Given the description of an element on the screen output the (x, y) to click on. 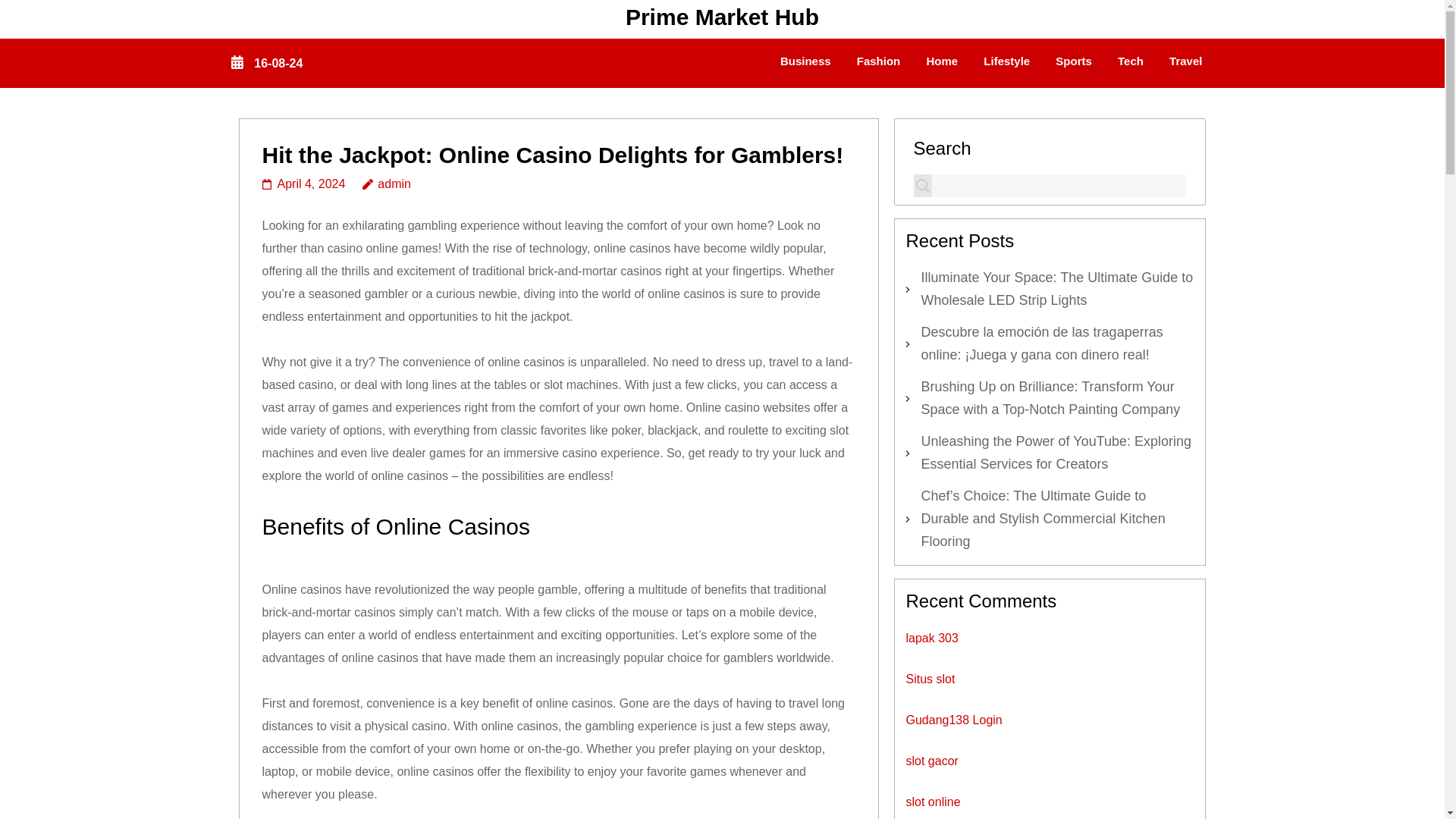
Sports (1073, 62)
Gudang138 Login (953, 719)
Travel (1185, 62)
slot gacor (931, 760)
Lifestyle (1006, 62)
Tech (1130, 62)
slot online (932, 801)
Prime Market Hub (722, 16)
April 4, 2024 (304, 183)
